Given the description of an element on the screen output the (x, y) to click on. 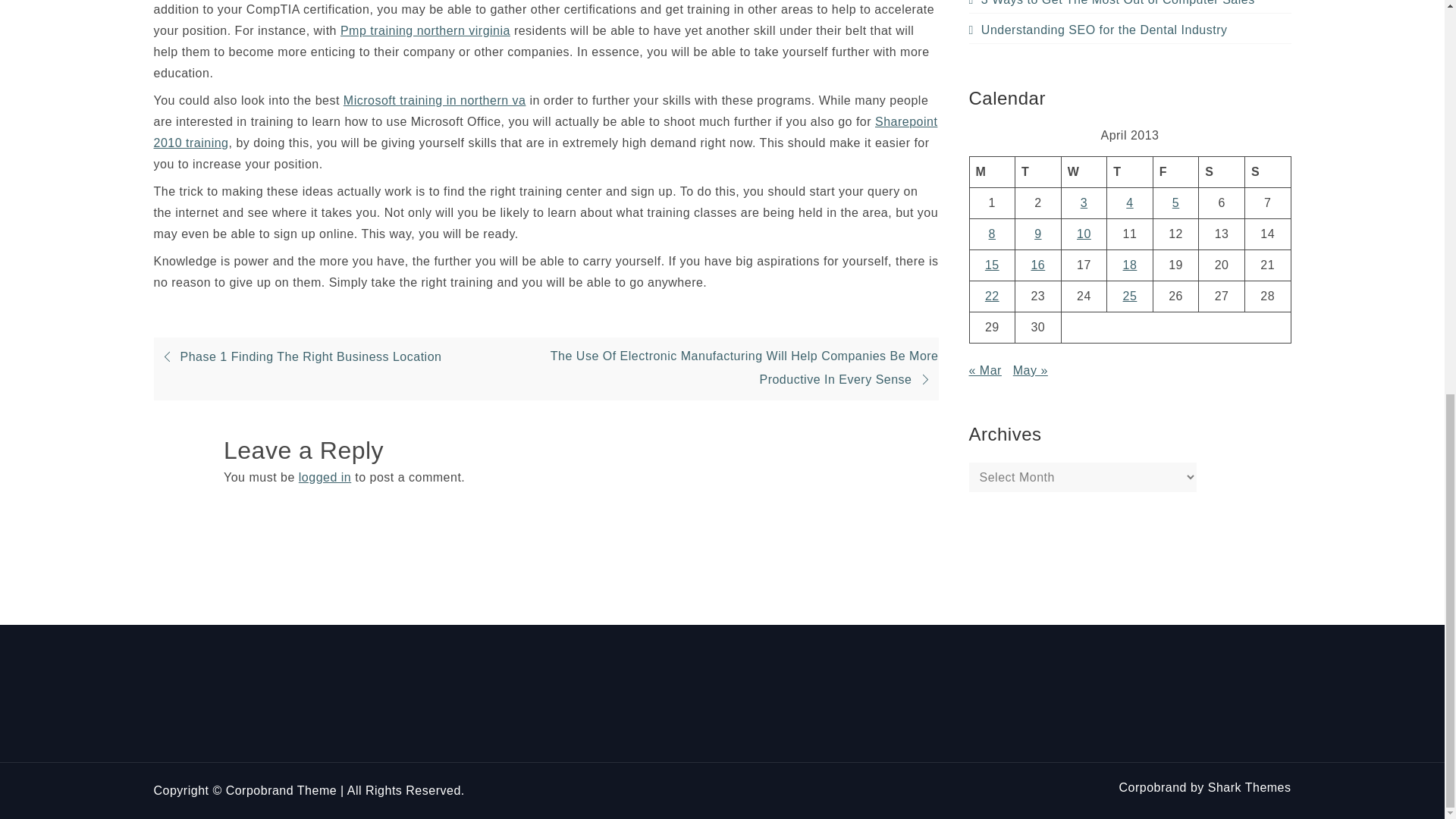
Thursday (1129, 171)
22 (991, 295)
Sharepoint 2010 training (544, 132)
Monday (991, 171)
Shark Themes (1249, 787)
Microsoft training in northern va (544, 132)
logged in (324, 477)
Microsoft training in northern va (434, 100)
Phase 1 Finding The Right Business Location (296, 356)
Wednesday (1083, 171)
Sunday (1267, 171)
Sharepoint 2010 training, Pmp training northern virginia (425, 30)
Tuesday (1037, 171)
Understanding SEO for the Dental Industry (1098, 29)
Friday (1175, 171)
